Given the description of an element on the screen output the (x, y) to click on. 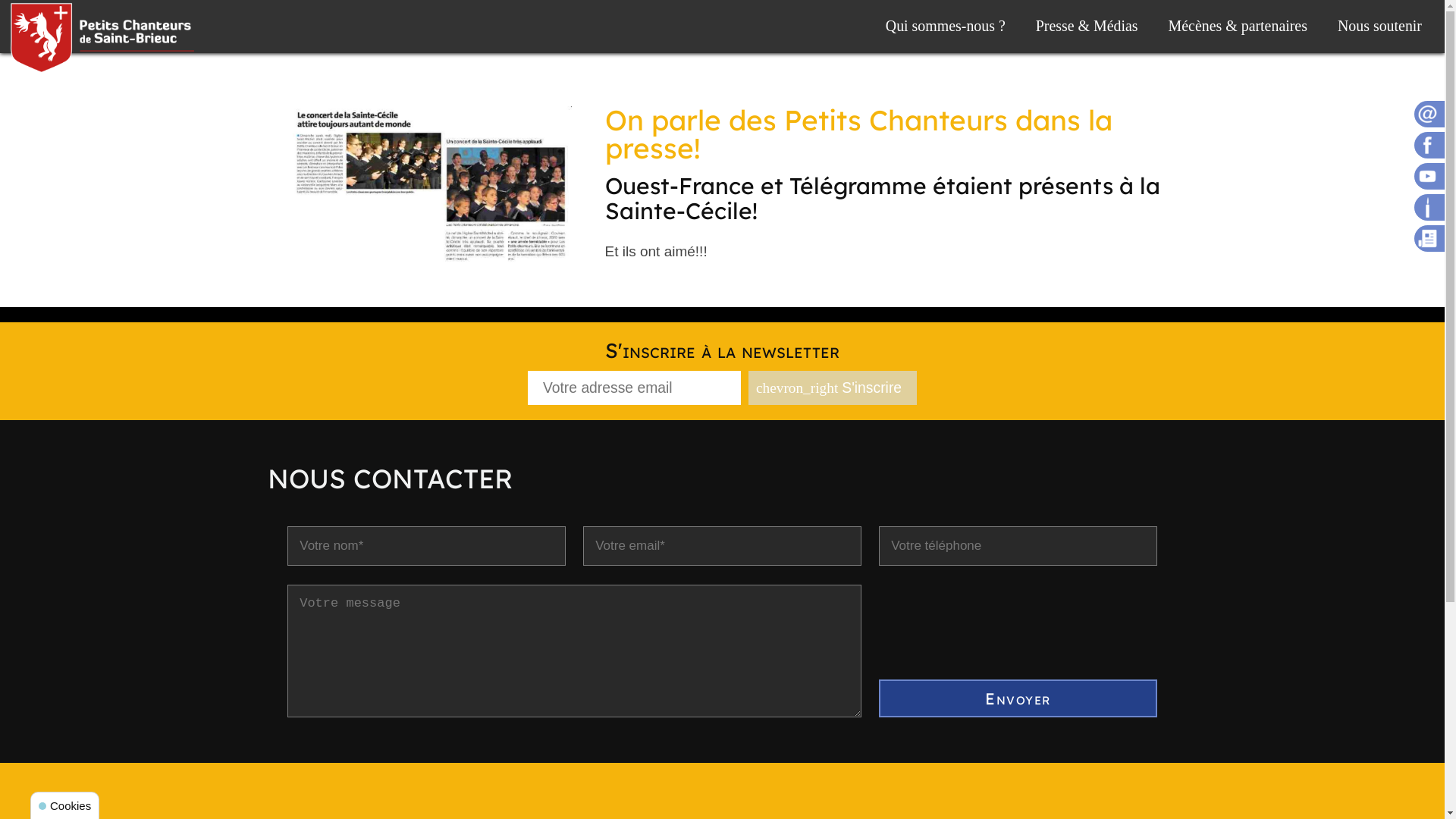
Maitrise de Saint-Brieuc Element type: hover (102, 37)
Nous soutenir Element type: hover (1429, 207)
Nos actus Element type: hover (1429, 238)
Nous contacter Element type: hover (1429, 113)
Notre page Facebook Element type: hover (1429, 144)
S'inscrire Element type: text (832, 387)
 0 Element type: hover (430, 191)
Nous soutenir Element type: text (1379, 26)
Envoyer Element type: text (1017, 698)
